Given the description of an element on the screen output the (x, y) to click on. 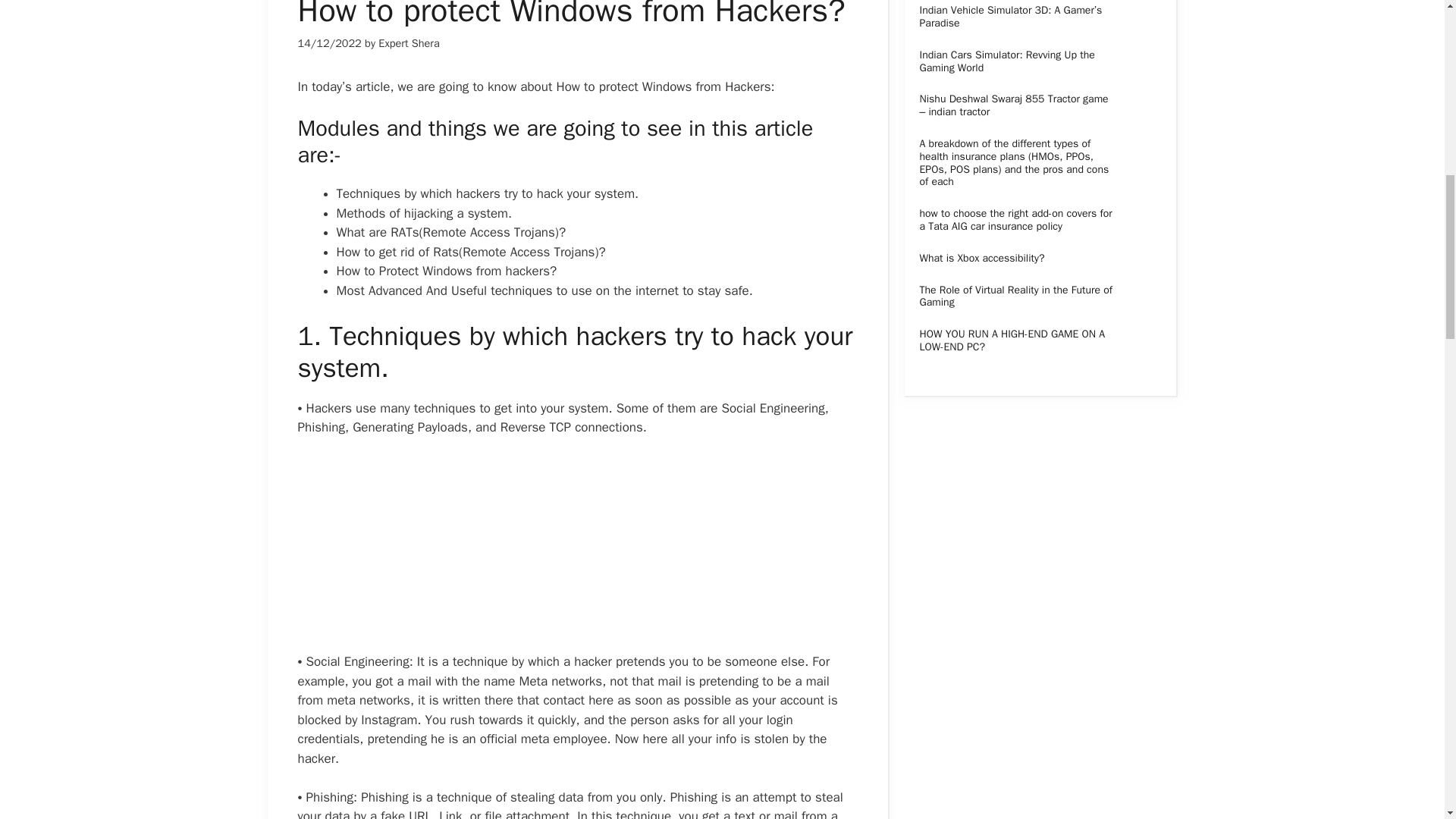
Expert Shera (408, 42)
What is Xbox accessibility? (980, 257)
Indian Cars Simulator: Revving Up the Gaming World (1006, 61)
View all posts by Expert Shera (408, 42)
HOW YOU RUN A HIGH-END GAME ON A LOW-END PC? (1010, 339)
The Role of Virtual Reality in the Future of Gaming (1015, 296)
